Given the description of an element on the screen output the (x, y) to click on. 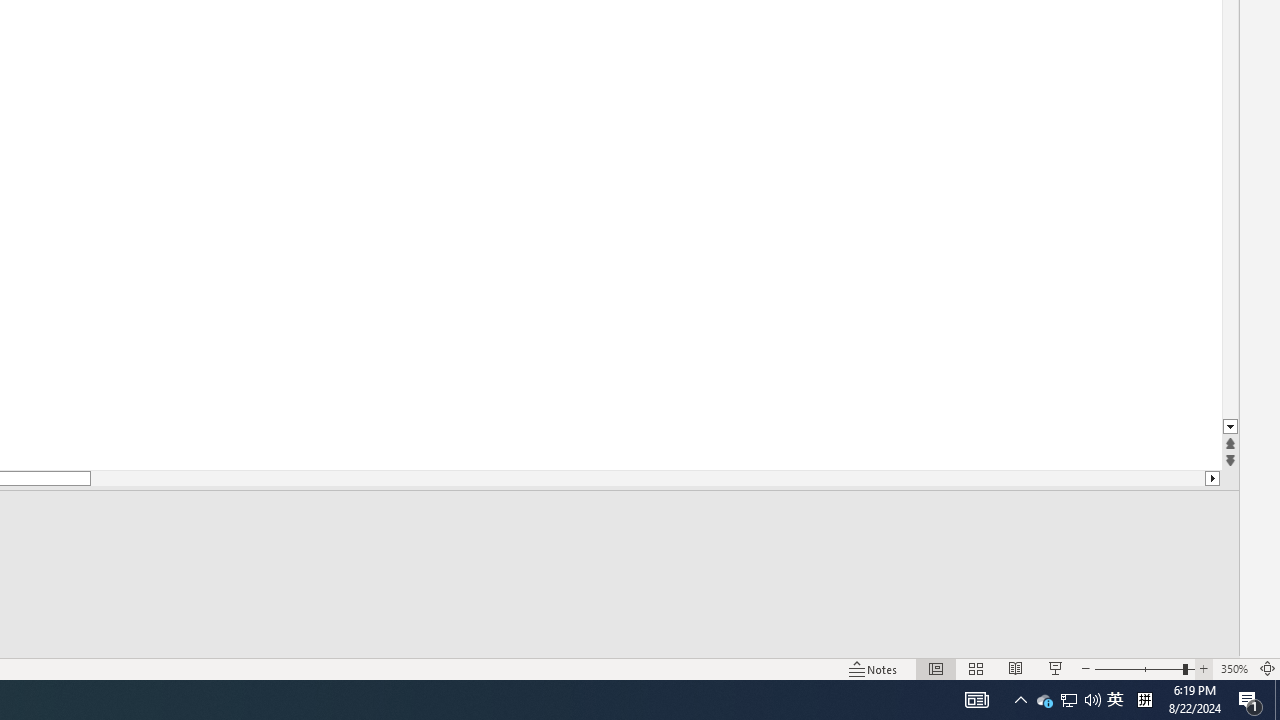
Zoom 350% (1234, 668)
